Given the description of an element on the screen output the (x, y) to click on. 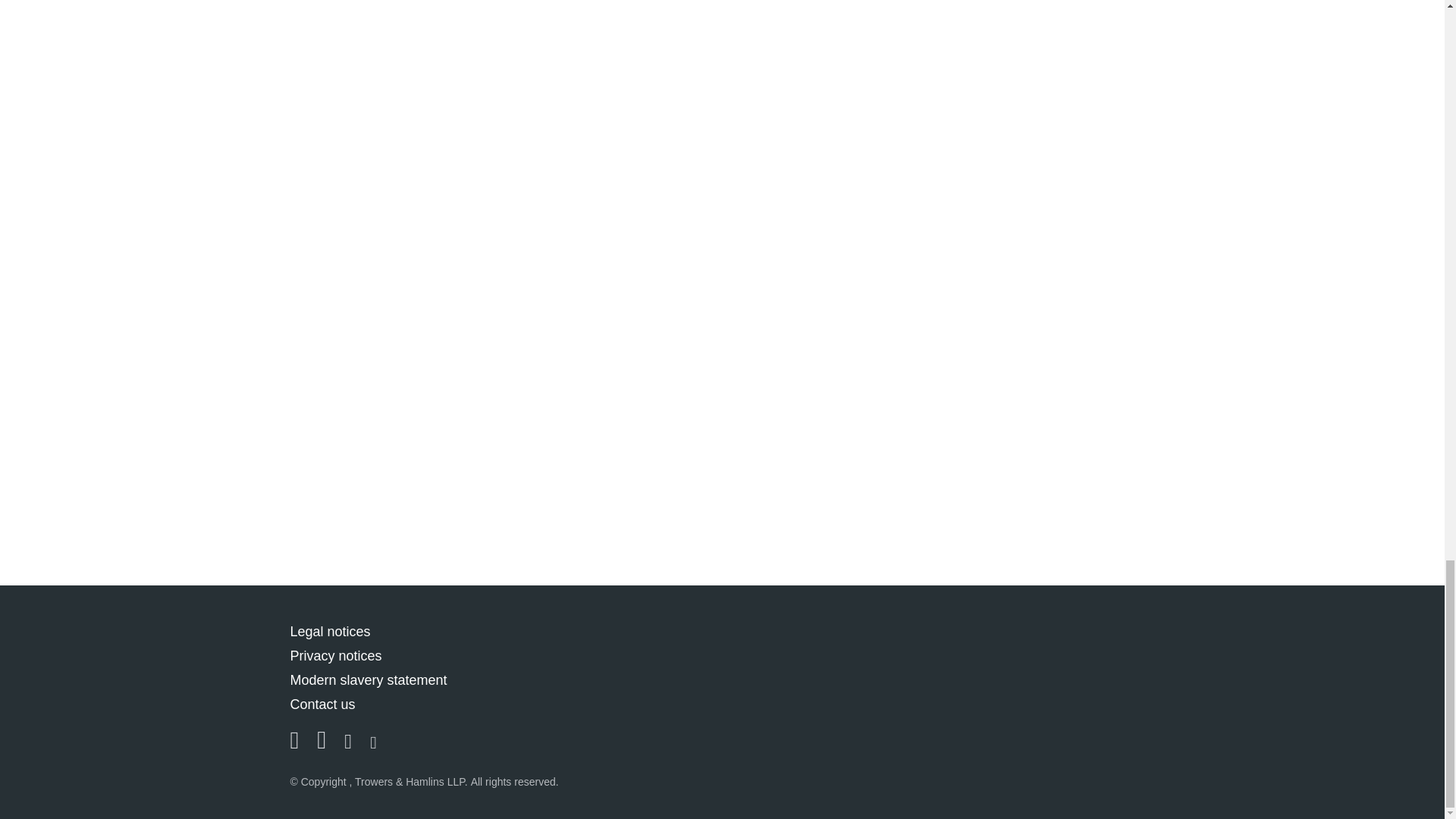
SRA Badge (1094, 676)
